Given the description of an element on the screen output the (x, y) to click on. 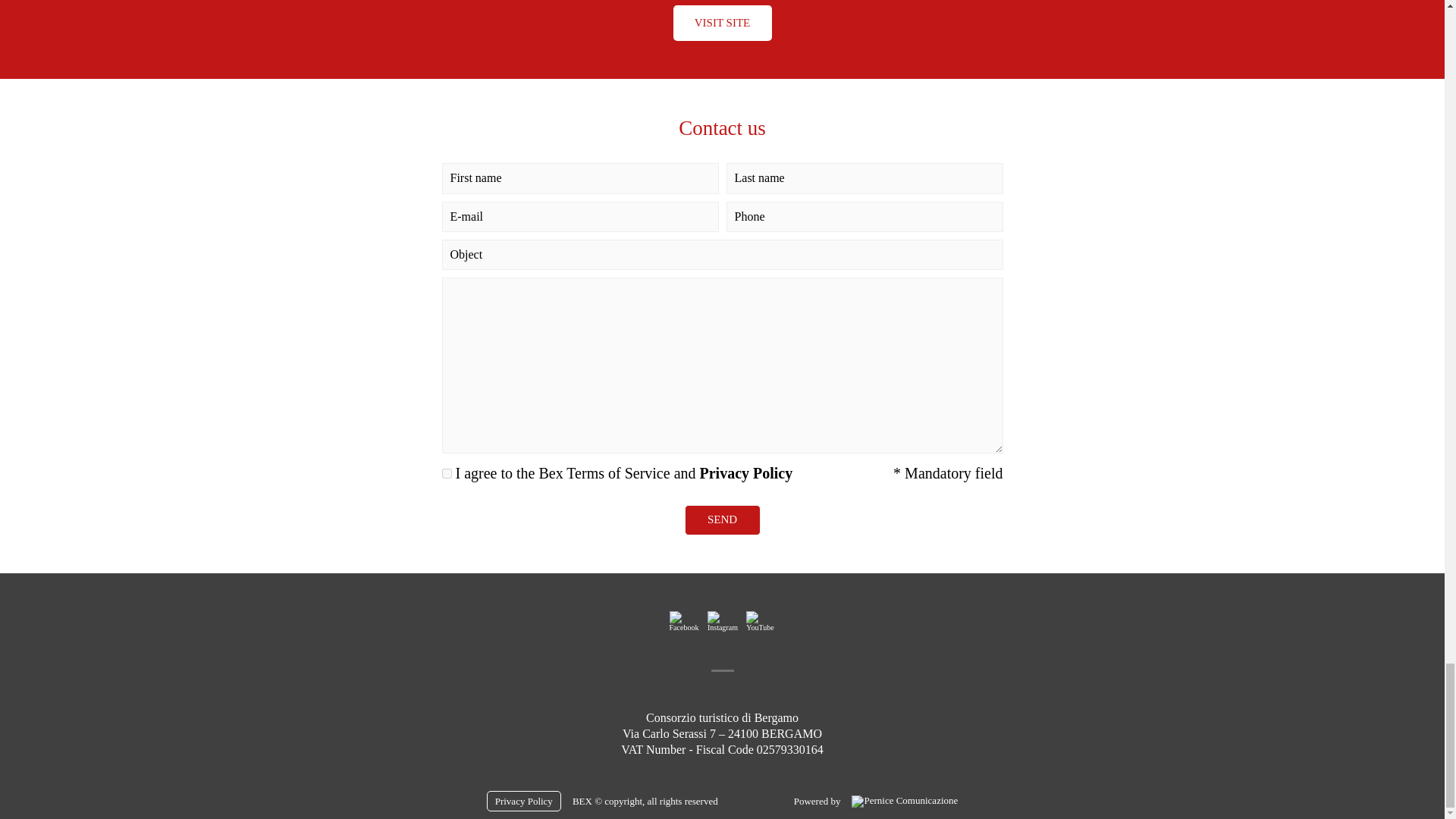
SEND (722, 519)
SEND (722, 519)
Privacy Policy (523, 801)
Privacy Policy (746, 473)
Privacy Policy  (746, 473)
VISIT SITE (721, 22)
1 (446, 473)
